Given the description of an element on the screen output the (x, y) to click on. 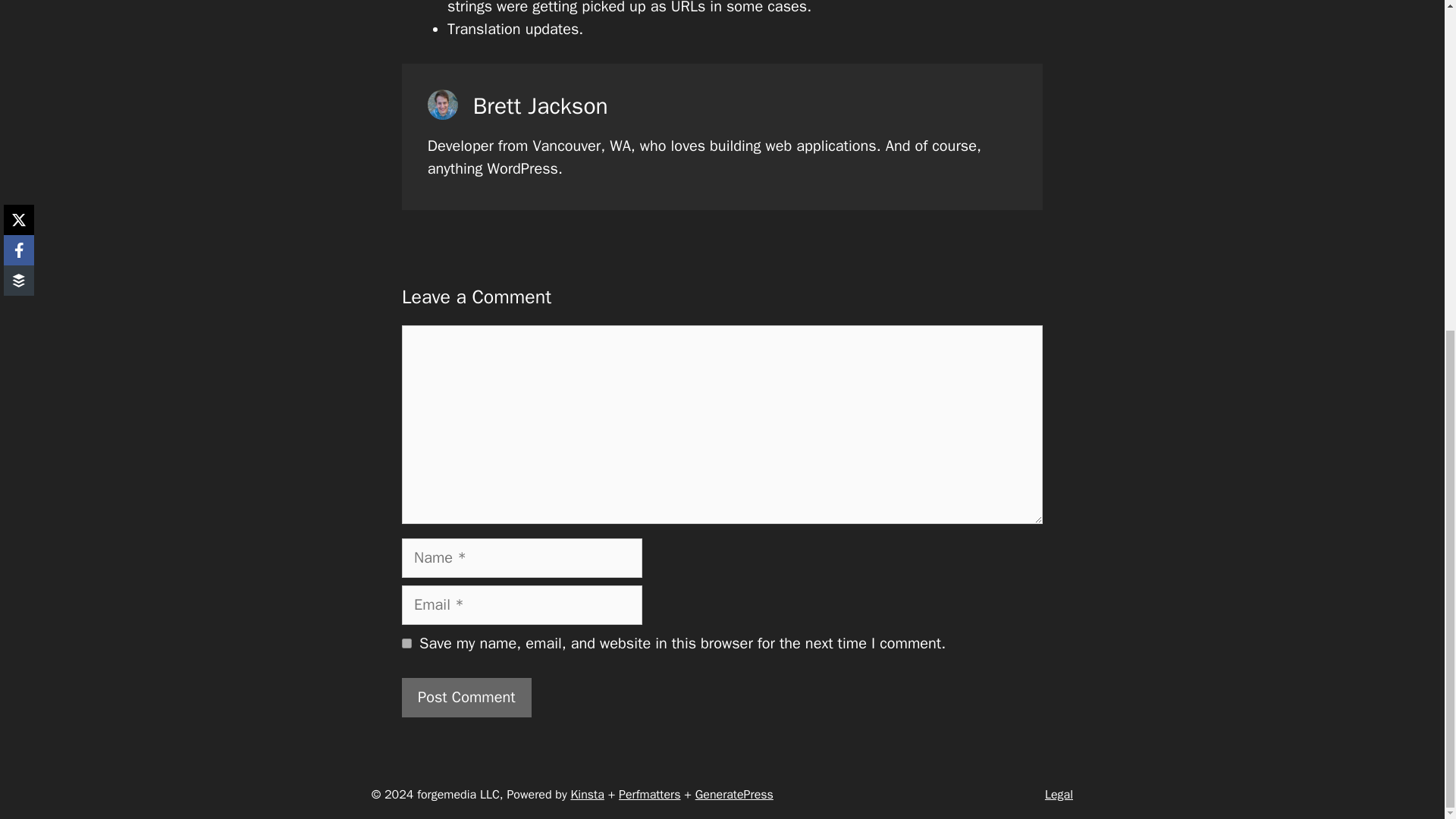
Post Comment (466, 697)
Perfmatters (648, 794)
yes (406, 643)
Kinsta (587, 794)
Post Comment (466, 697)
GeneratePress (734, 794)
Legal (1059, 794)
